Given the description of an element on the screen output the (x, y) to click on. 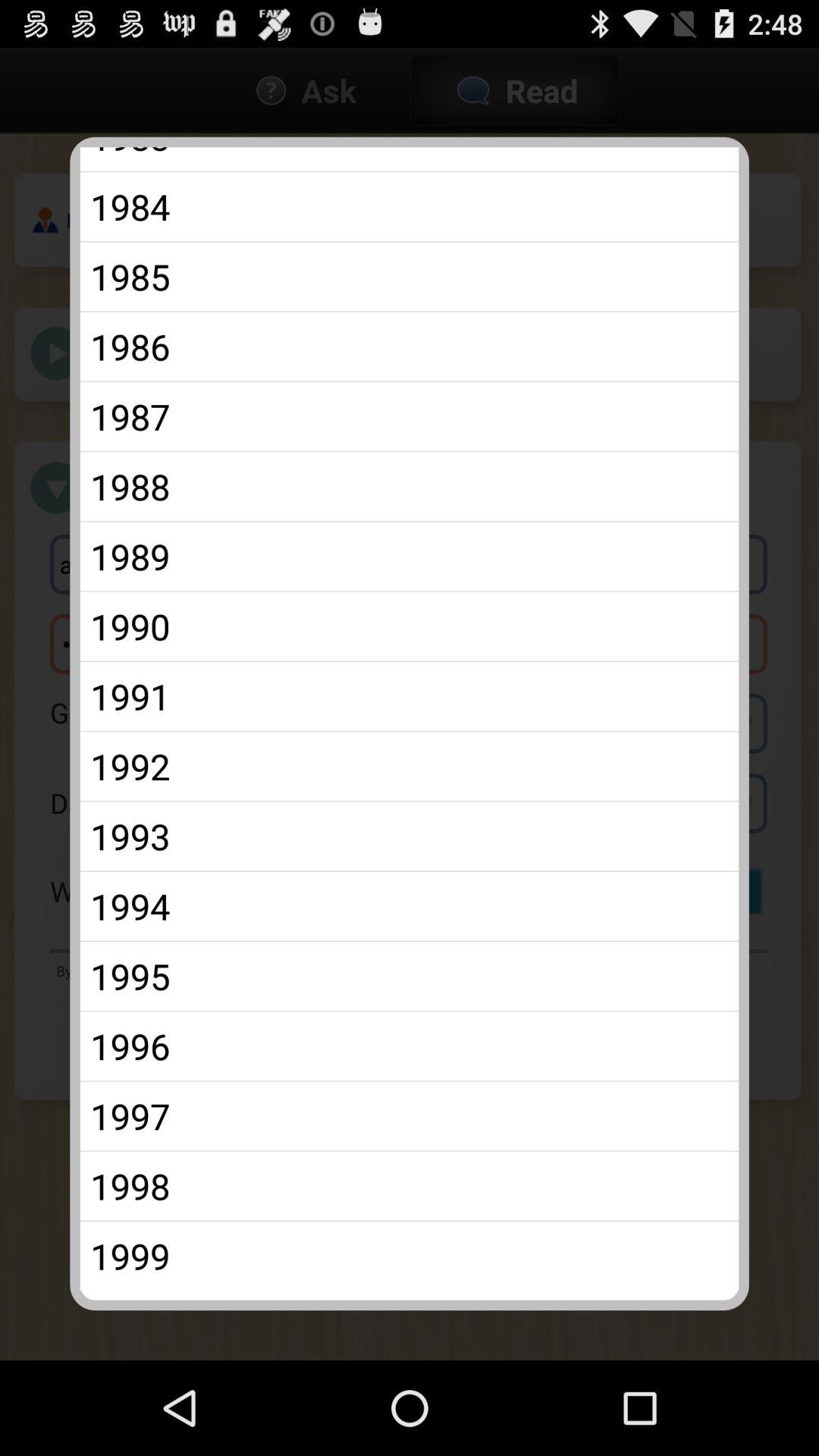
open the item above the 1993 item (409, 765)
